Given the description of an element on the screen output the (x, y) to click on. 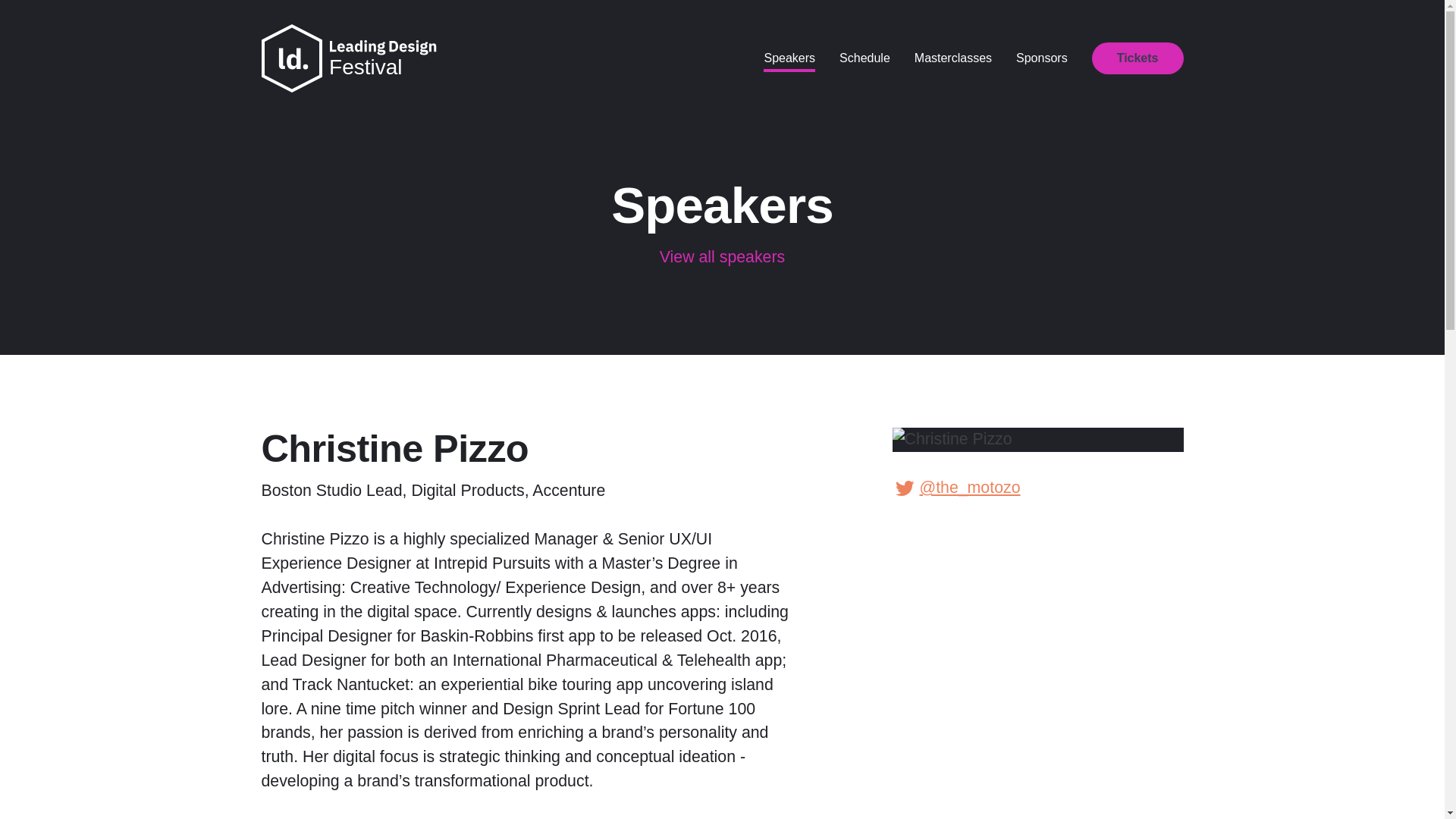
View all speakers (721, 257)
Schedule (864, 58)
Tickets (1137, 58)
Sponsors (1041, 58)
Masterclasses (952, 58)
Speakers (788, 58)
Festival (365, 66)
